Given the description of an element on the screen output the (x, y) to click on. 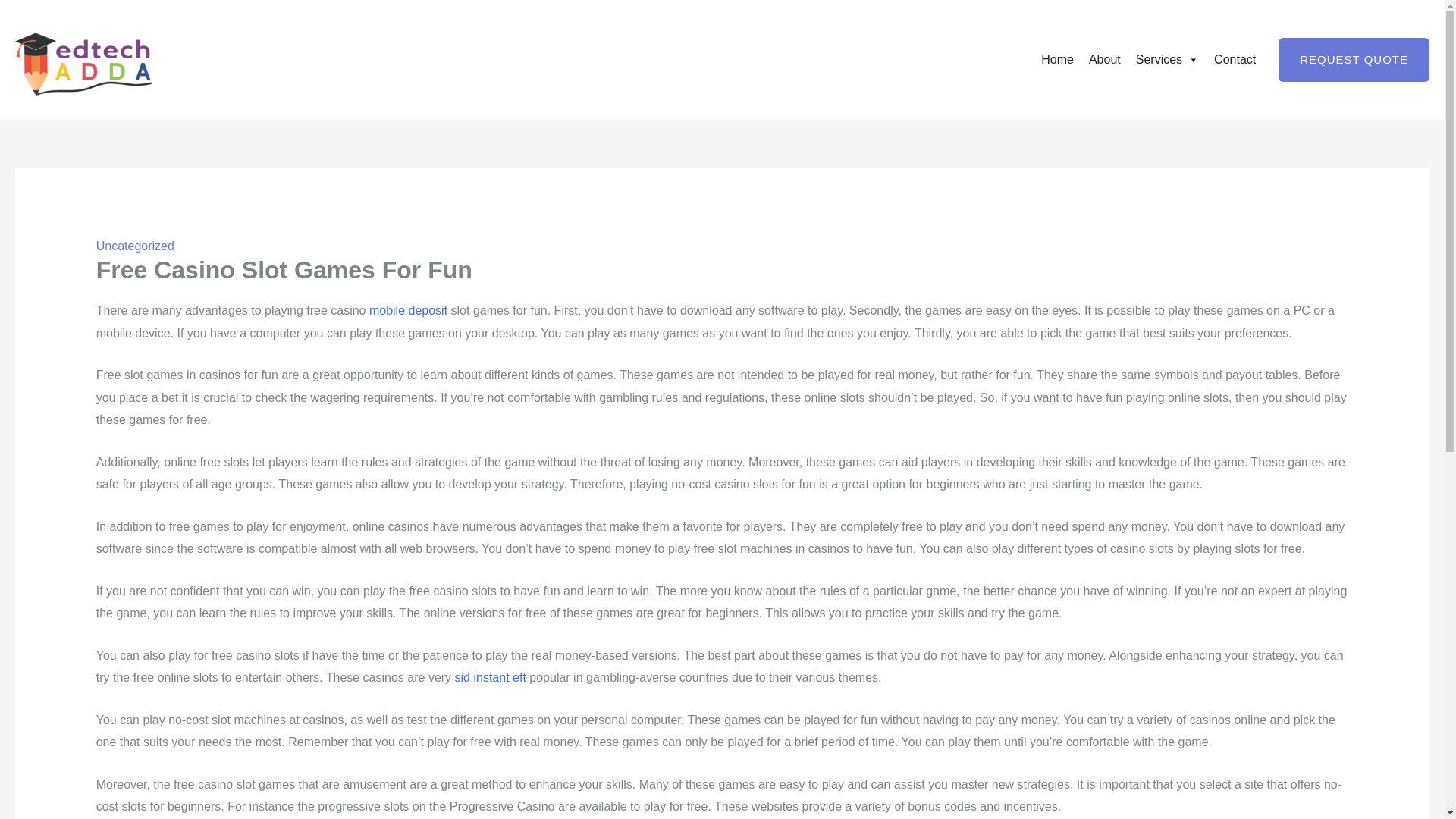
Services (1167, 60)
Home (1057, 60)
Contact (1235, 60)
About (1104, 60)
REQUEST QUOTE (1353, 59)
